Given the description of an element on the screen output the (x, y) to click on. 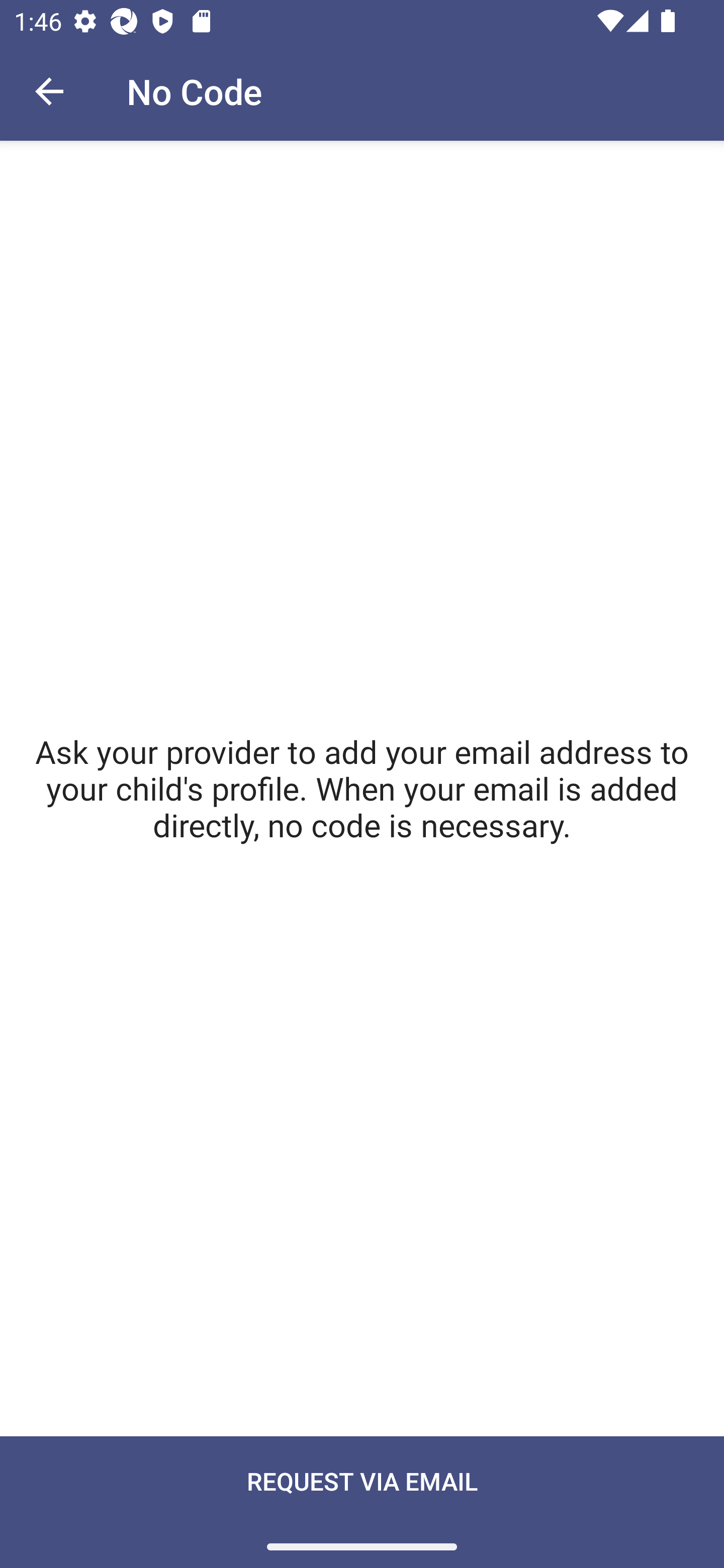
Navigate up (49, 91)
REQUEST VIA EMAIL (362, 1502)
